Given the description of an element on the screen output the (x, y) to click on. 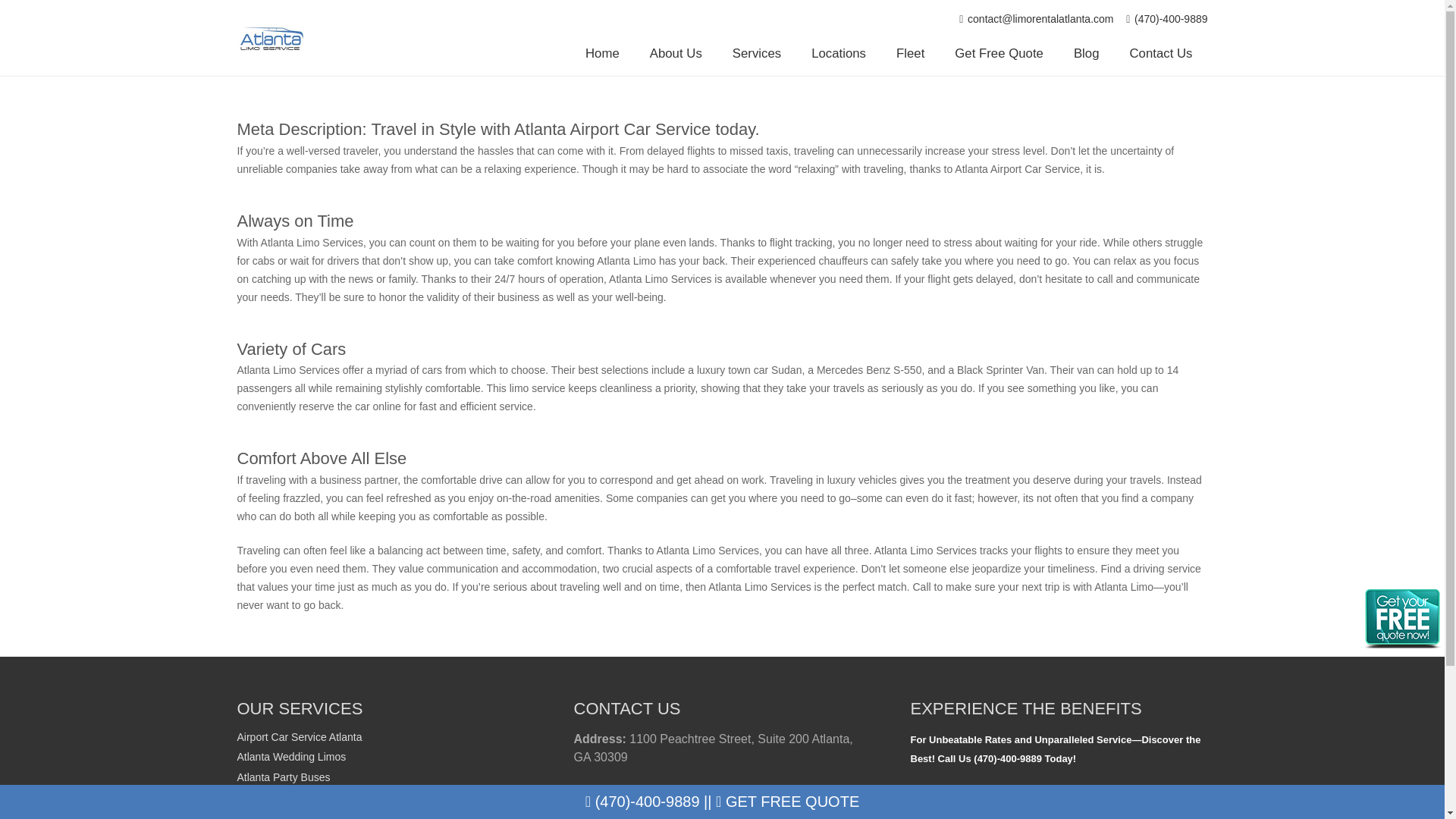
Blog (1086, 53)
Contact Us (1161, 53)
Charter Bus Atlanta (282, 815)
Airport Car Service Atlanta (298, 736)
Events Planners (274, 797)
About Us (675, 53)
Fleet (909, 53)
Services (756, 53)
Atlanta Party Buses (282, 776)
Atlanta Wedding Limos (290, 756)
Get Free Quote (998, 53)
Locations (838, 53)
Home (602, 53)
